Given the description of an element on the screen output the (x, y) to click on. 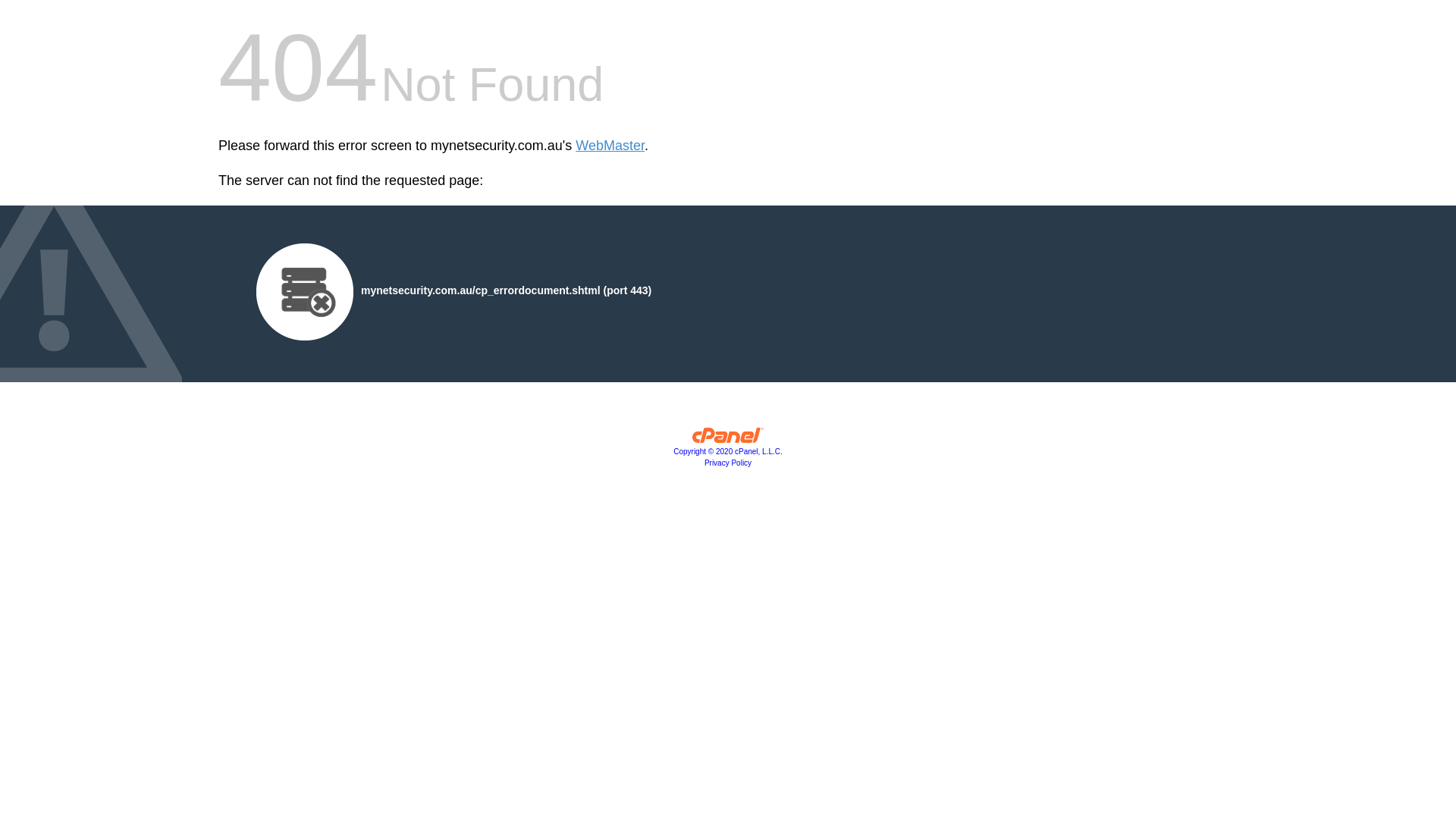
cPanel, Inc. Element type: hover (728, 439)
Privacy Policy Element type: text (727, 462)
WebMaster Element type: text (609, 145)
